Given the description of an element on the screen output the (x, y) to click on. 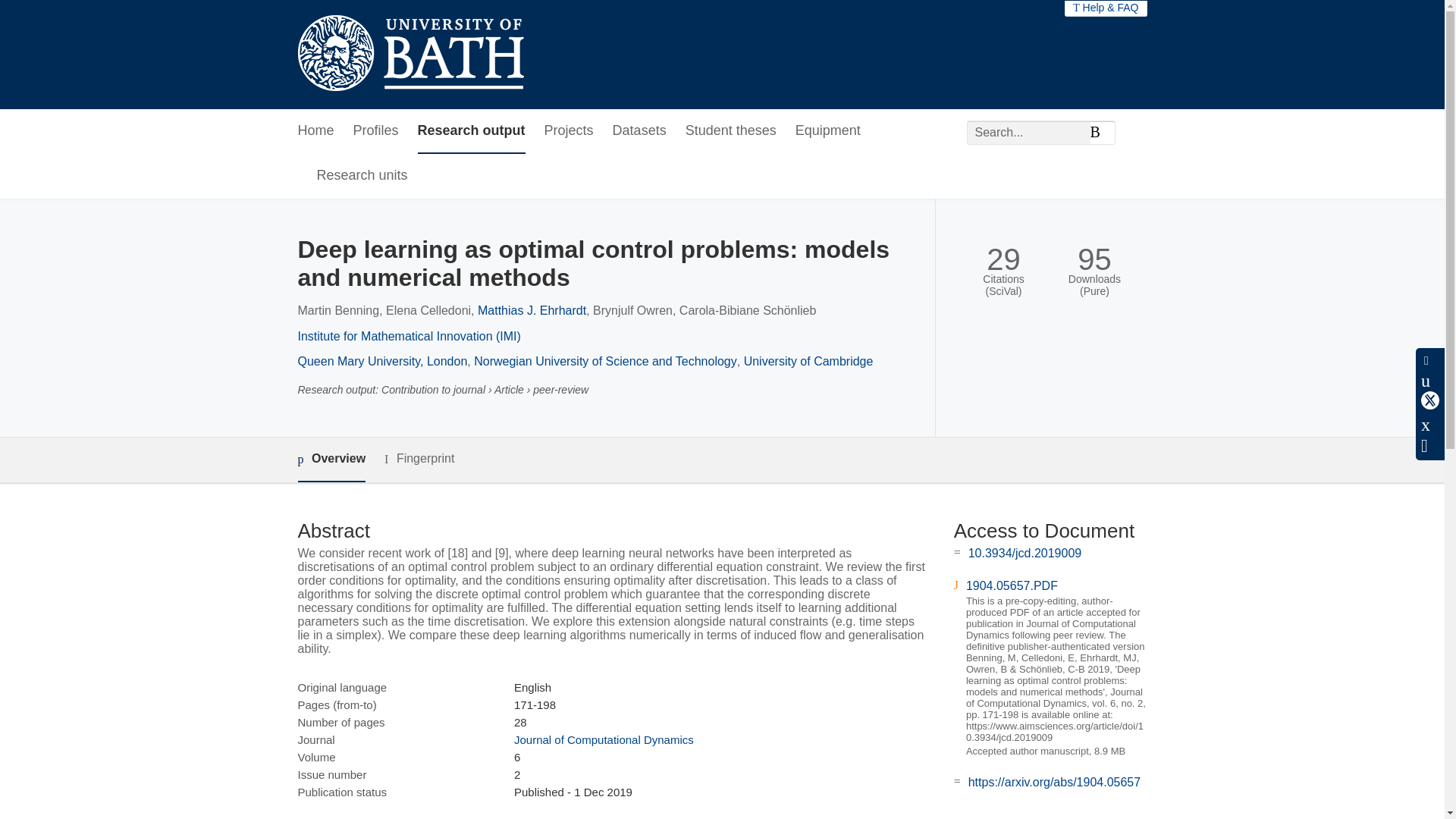
Fingerprint (419, 458)
Research units (362, 176)
Research output (471, 130)
Datasets (639, 130)
Queen Mary University, London (382, 360)
Student theses (730, 130)
Journal of Computational Dynamics (603, 739)
Matthias J. Ehrhardt (531, 309)
Profiles (375, 130)
